Given the description of an element on the screen output the (x, y) to click on. 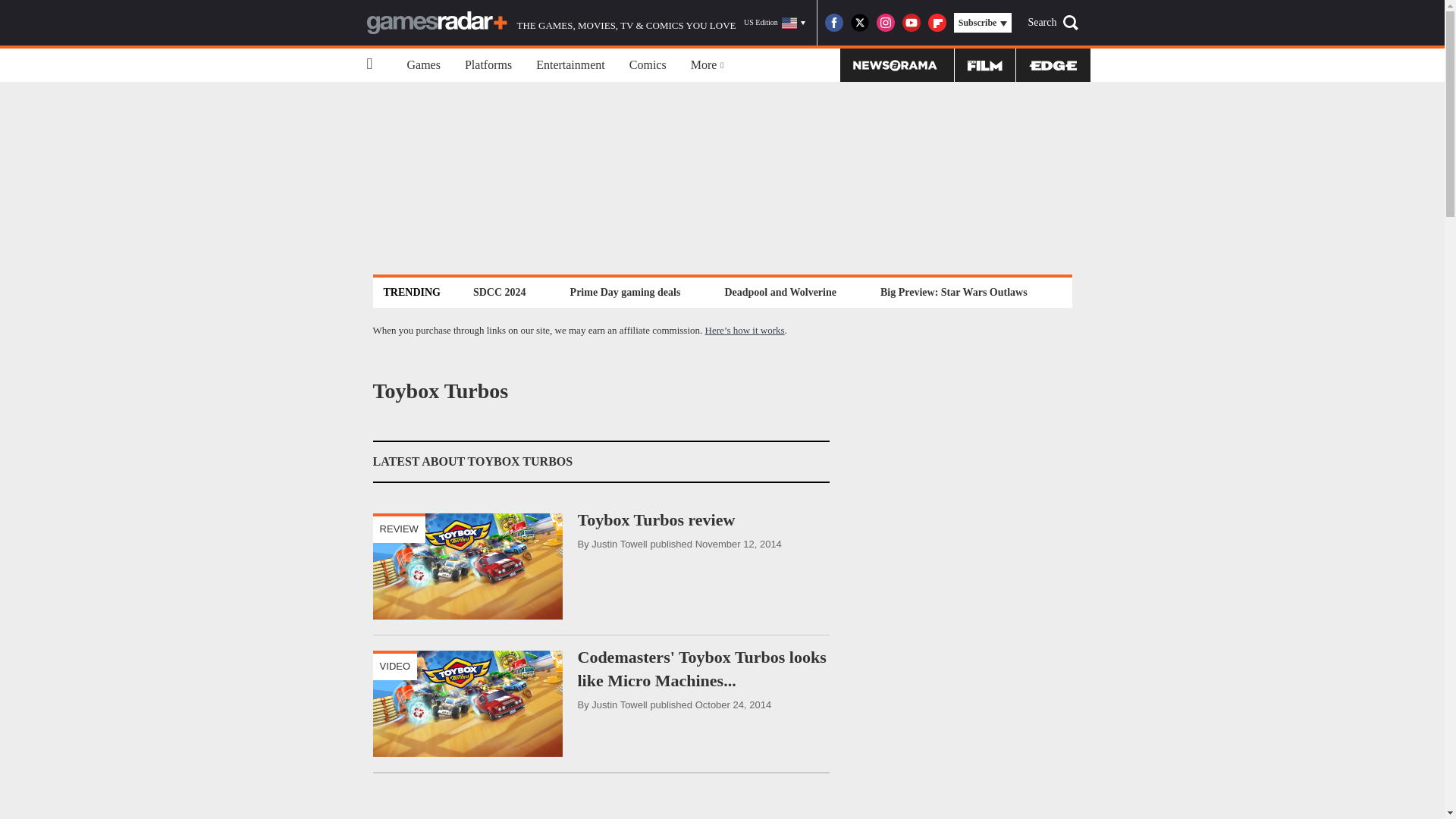
SDCC 2024 (499, 292)
Platforms (488, 64)
Deadpool and Wolverine (780, 292)
US Edition (774, 22)
Entertainment (570, 64)
Prime Day gaming deals (624, 292)
Games (422, 64)
Comics (647, 64)
Big Preview: Star Wars Outlaws (953, 292)
